Given the description of an element on the screen output the (x, y) to click on. 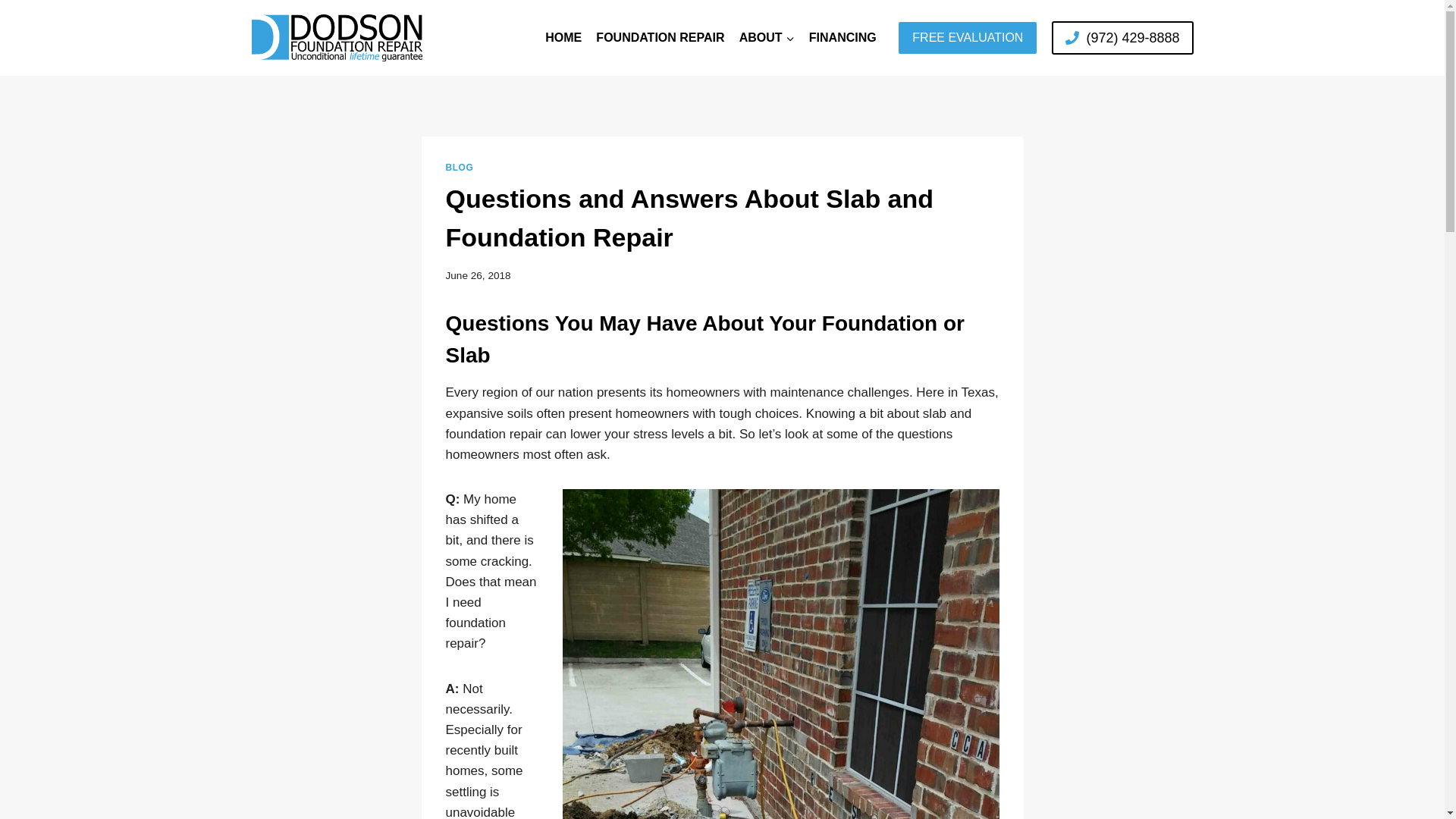
ABOUT (767, 37)
FINANCING (842, 37)
BLOG (459, 167)
FOUNDATION REPAIR (660, 37)
FREE EVALUATION (967, 38)
HOME (563, 37)
